Given the description of an element on the screen output the (x, y) to click on. 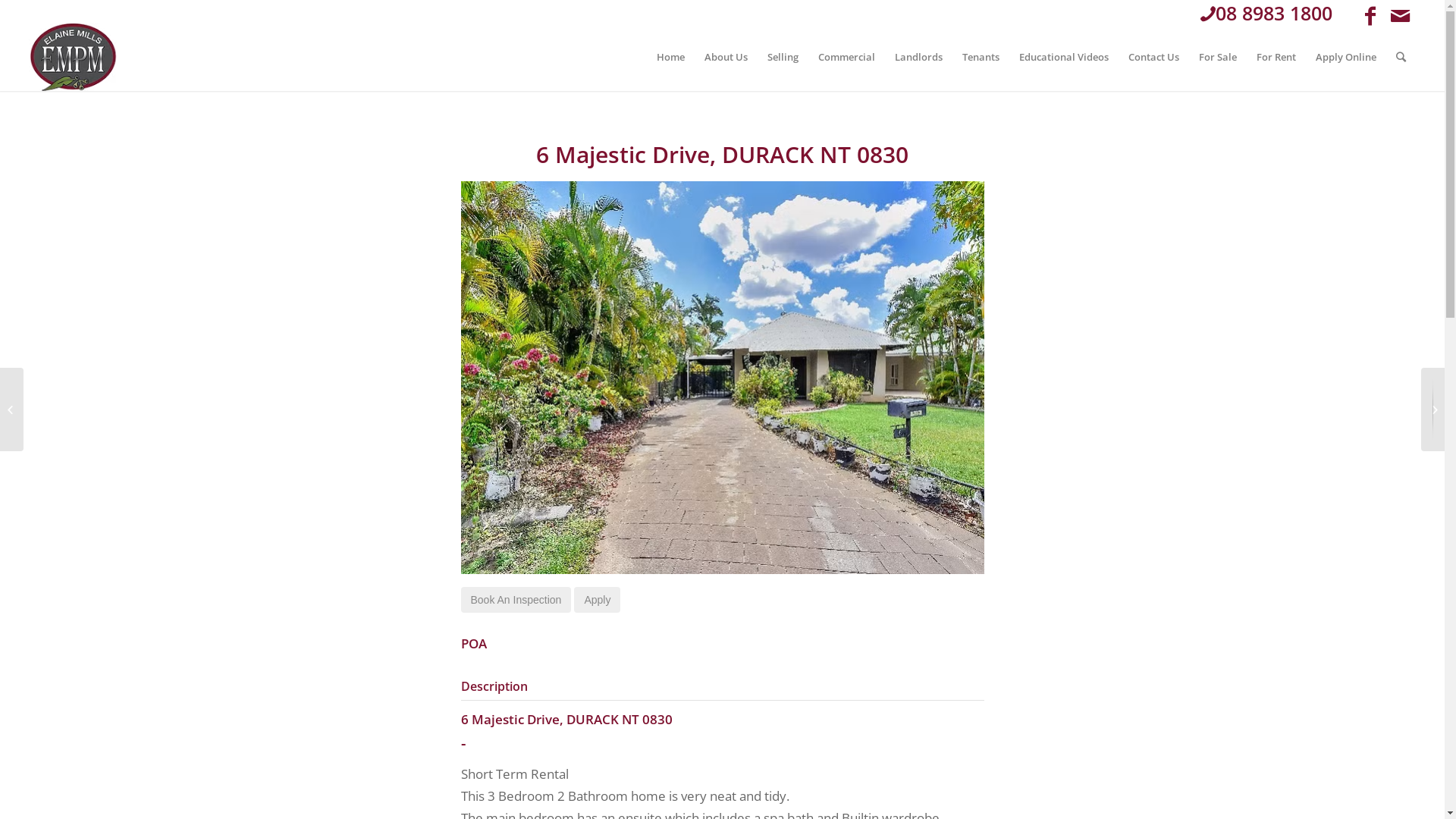
Landlords Element type: text (918, 56)
Home Element type: text (670, 56)
Contact Us Element type: text (1153, 56)
Facebook Element type: hover (1370, 15)
Apply Element type: text (597, 599)
Book An Inspection Element type: text (516, 599)
Mail Element type: hover (1400, 15)
For Sale Element type: text (1217, 56)
Selling Element type: text (782, 56)
08 8983 1800 Element type: text (1266, 12)
Apply Online Element type: text (1345, 56)
For Rent Element type: text (1275, 56)
About Us Element type: text (725, 56)
Commercial Element type: text (846, 56)
Tenants Element type: text (980, 56)
Educational Videos Element type: text (1063, 56)
6 Majestic Drive, DURACK NT 0830 Element type: text (722, 153)
